Given the description of an element on the screen output the (x, y) to click on. 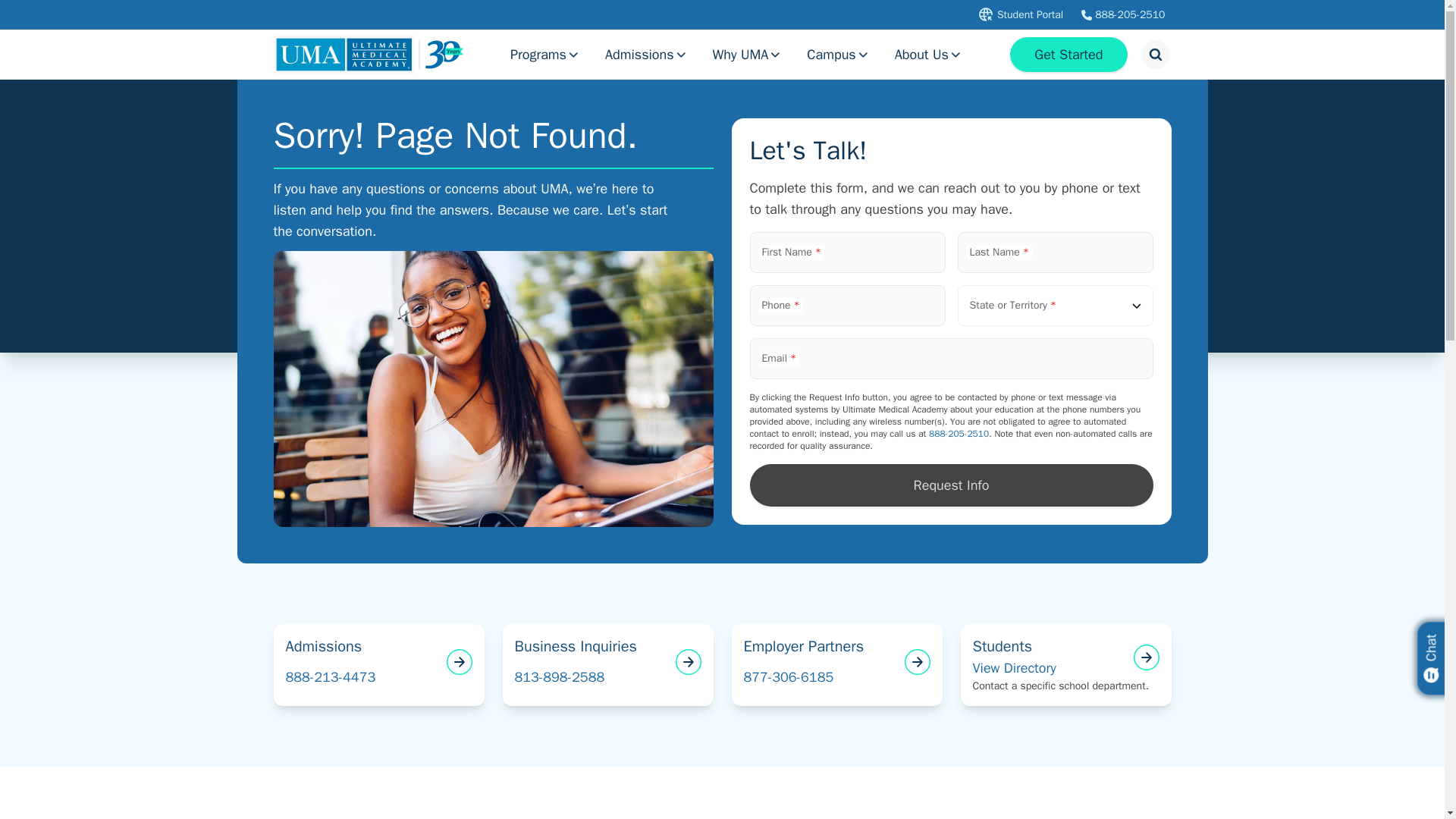
About Us (928, 54)
Admissions (646, 54)
Student Portal (1018, 14)
Why UMA (747, 54)
Programs (544, 54)
888-205-2510 (1122, 14)
Campus (838, 54)
